Given the description of an element on the screen output the (x, y) to click on. 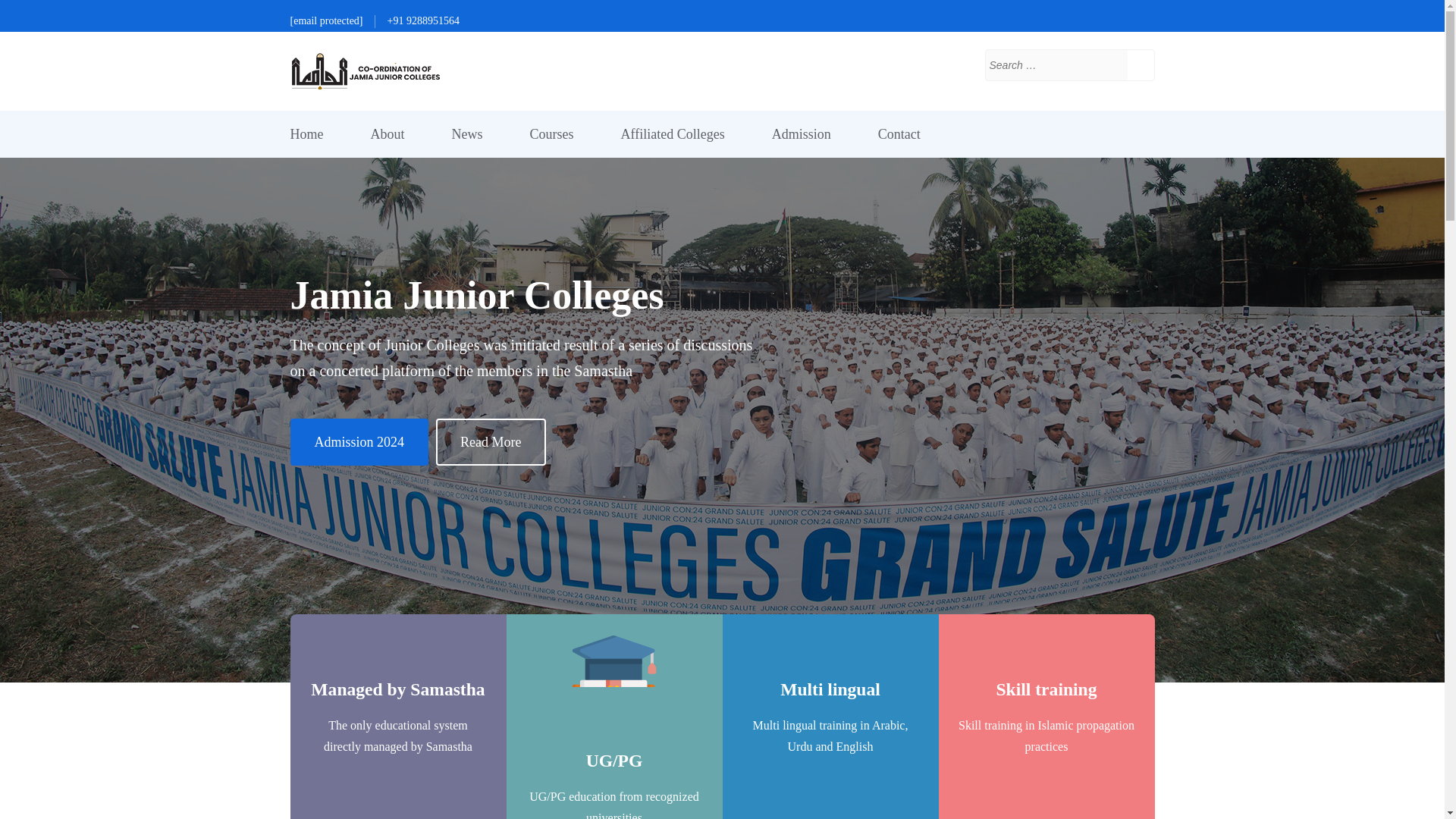
Managed by Samastha (397, 689)
Affiliated Colleges (671, 134)
Courses (551, 134)
Admission (801, 134)
Skill training (1046, 689)
Multi lingual (830, 689)
Contact (898, 134)
Read More (489, 442)
Admission 2024 (358, 442)
